Given the description of an element on the screen output the (x, y) to click on. 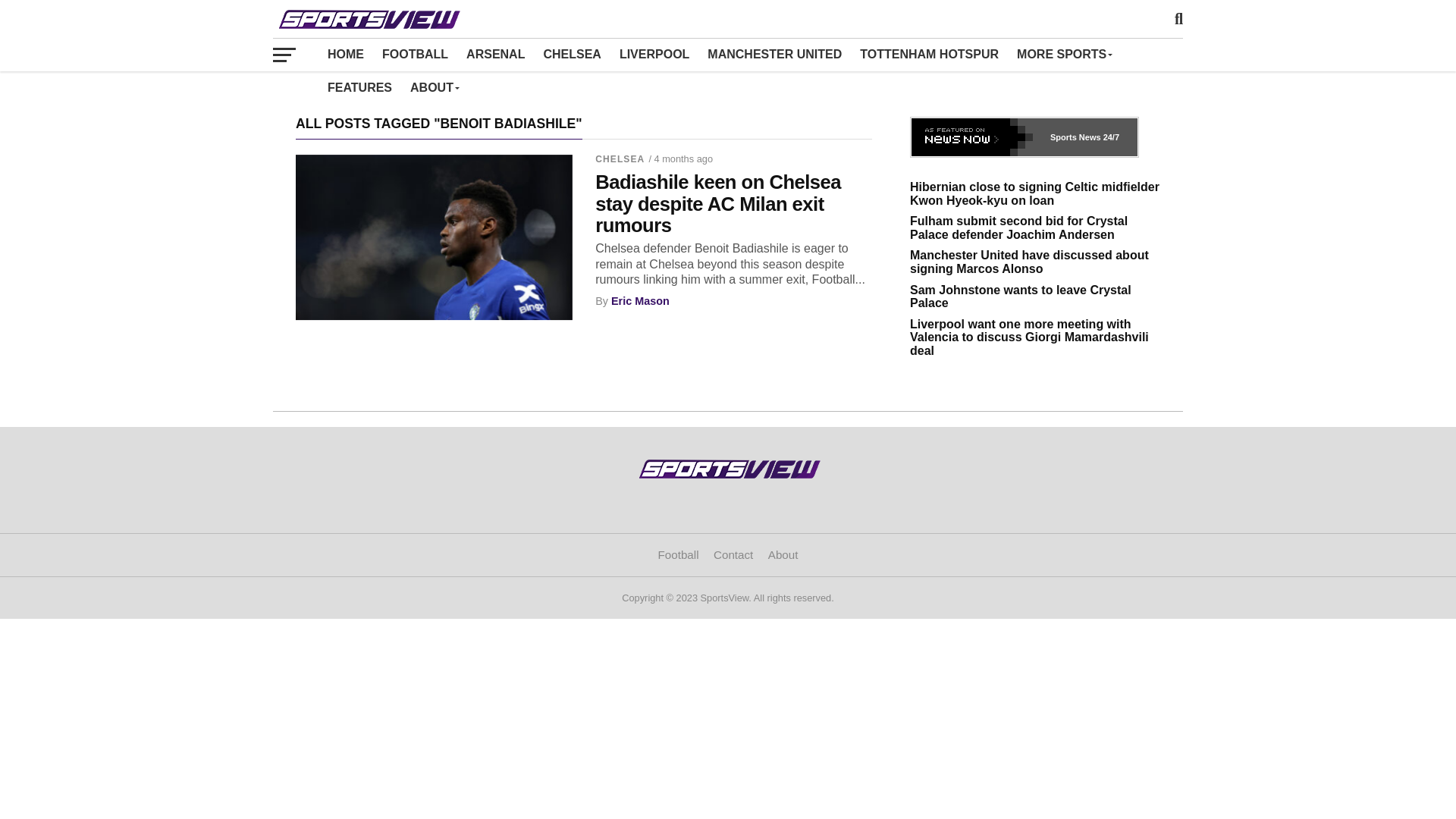
Posts by Eric Mason (640, 300)
CHELSEA (572, 54)
ARSENAL (495, 54)
LIVERPOOL (654, 54)
FOOTBALL (414, 54)
HOME (345, 54)
MORE SPORTS (1063, 54)
MANCHESTER UNITED (774, 54)
TOTTENHAM HOTSPUR (928, 54)
Click here for more Arsenal news from NewsNow (1024, 137)
